Given the description of an element on the screen output the (x, y) to click on. 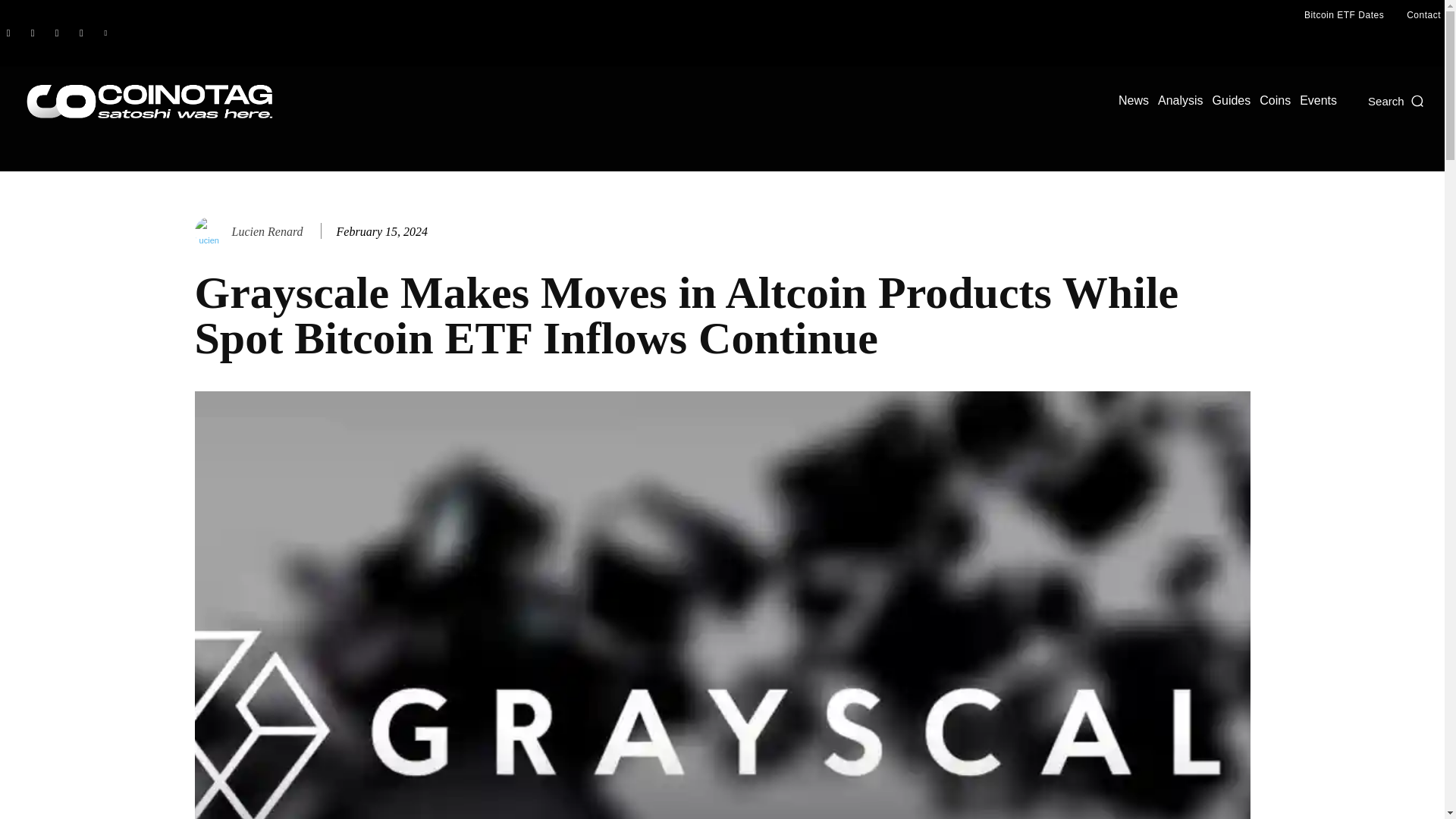
RSS (56, 33)
Twitter (105, 33)
Search (1397, 99)
Lucien Renard (266, 231)
Lucien Renard (210, 232)
Instagram (32, 33)
Bitcoin ETF Dates (1343, 15)
Telegram (80, 33)
Facebook (8, 33)
